Given the description of an element on the screen output the (x, y) to click on. 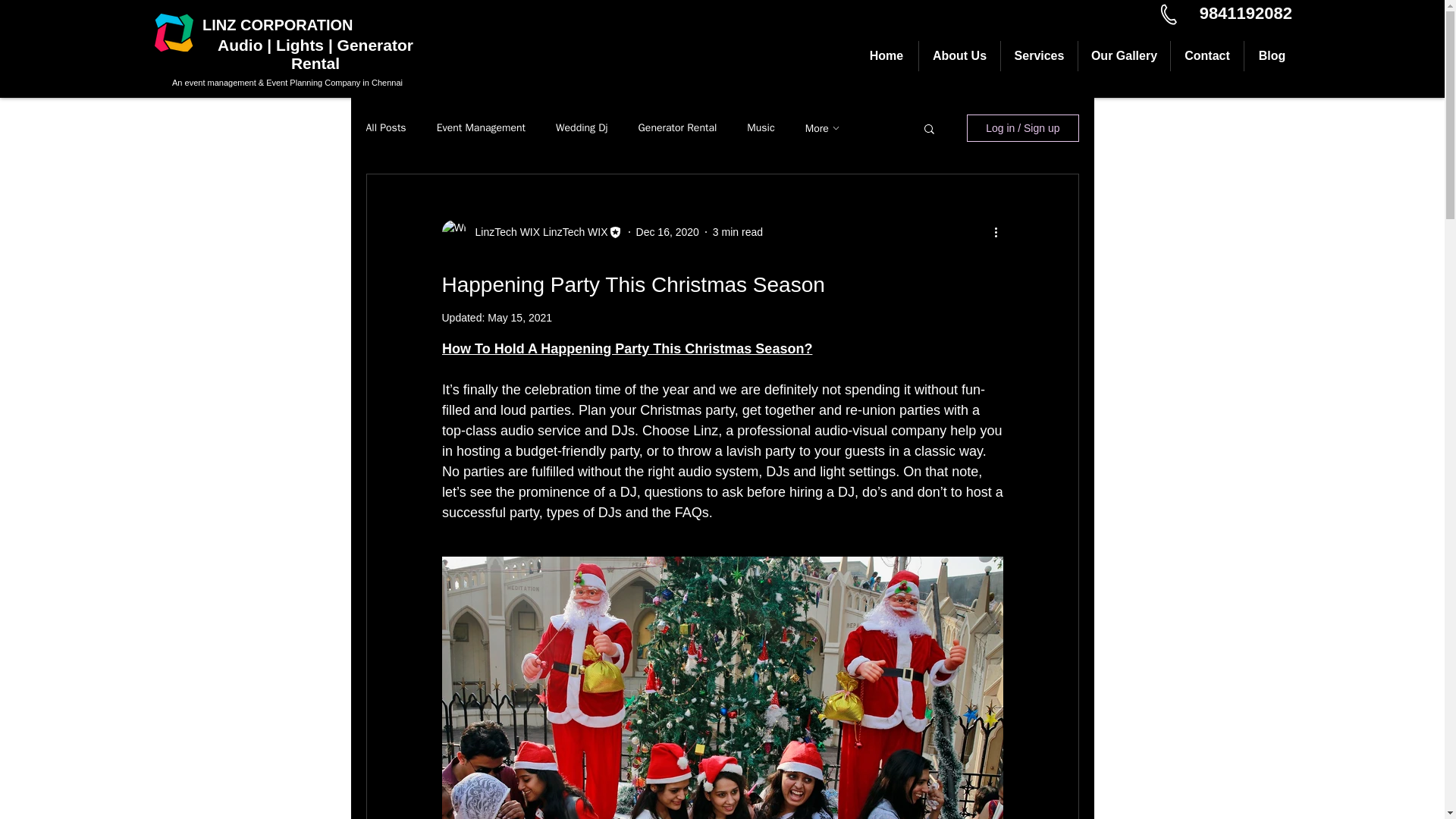
Home (886, 55)
Dec 16, 2020 (667, 232)
Our Gallery (1124, 55)
Services (1039, 55)
3 min read (737, 232)
LinzTech WIX LinzTech WIX (536, 232)
May 15, 2021 (519, 317)
Event Management (480, 128)
Generator Rental (678, 128)
All Posts (385, 128)
Wedding Dj (582, 128)
Contact (1206, 55)
9841192082 (1245, 13)
Music (760, 128)
About Us (959, 55)
